Given the description of an element on the screen output the (x, y) to click on. 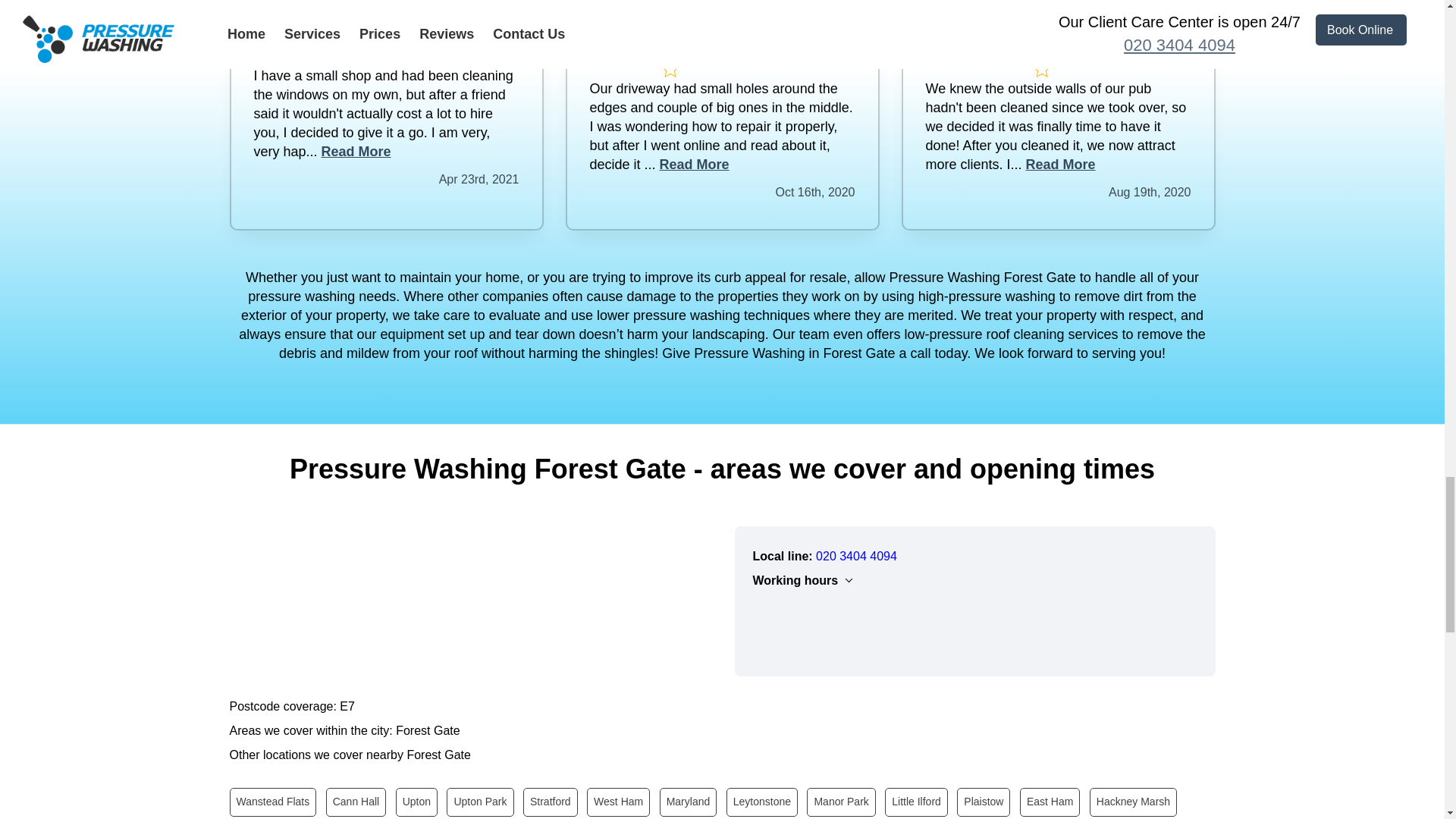
Call Pressure Washing in Forest Gate (855, 555)
Wanstead Flats (271, 801)
Upton (417, 801)
Manor Park (840, 801)
020 3404 4094 (855, 555)
Cann Hall (355, 801)
Forest Gate map location (469, 600)
Leytonstone (761, 801)
Stratford (550, 801)
Maryland (688, 801)
Upton Park (479, 801)
Wanstead Flats (271, 801)
West Ham (617, 801)
West Ham (617, 801)
Plaistow (983, 801)
